Given the description of an element on the screen output the (x, y) to click on. 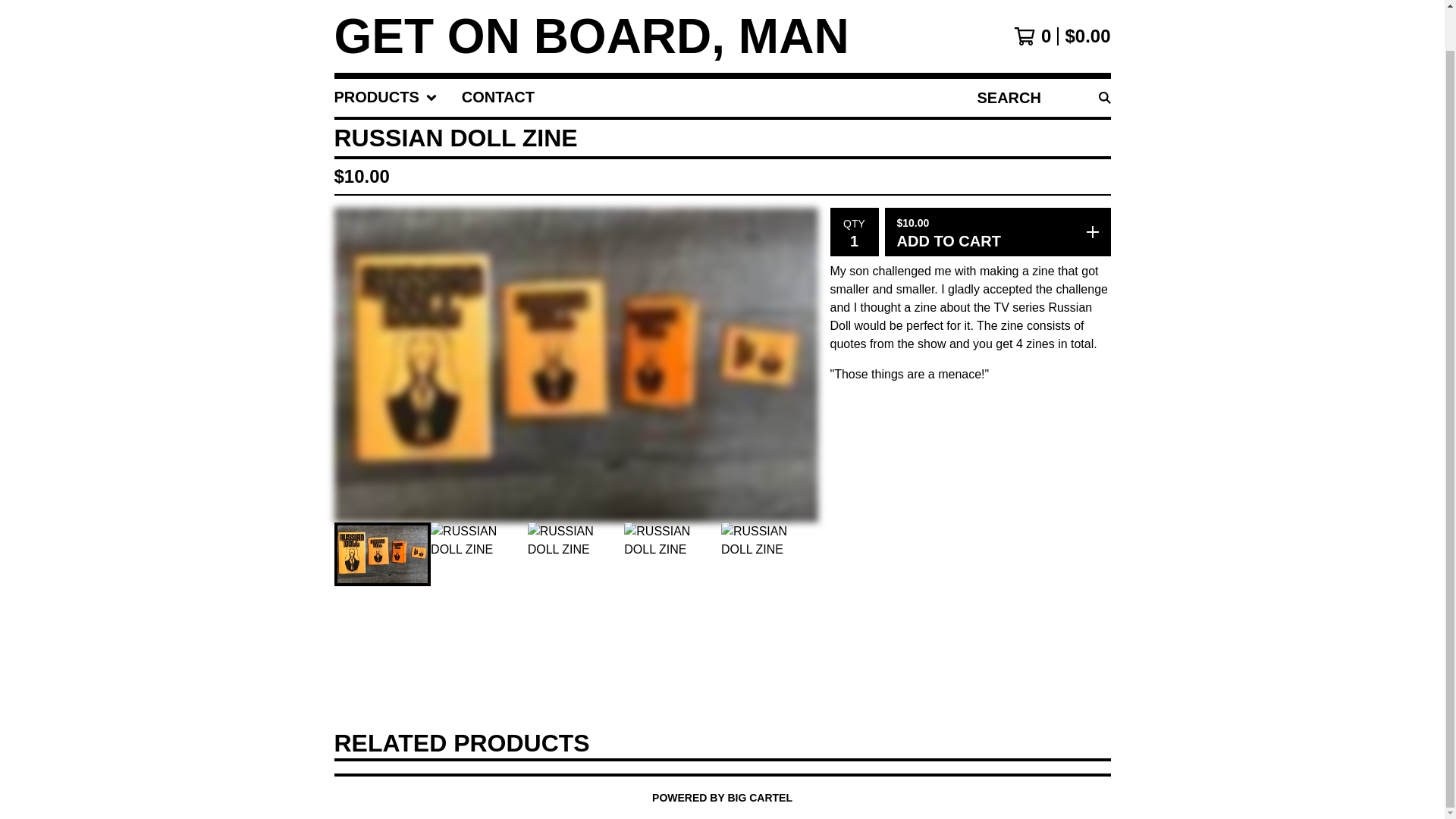
Home (590, 36)
Add to Cart (996, 232)
GET ON BOARD, MAN (590, 36)
PRODUCTS (384, 97)
1 (853, 240)
View cart (1061, 36)
CONTACT (497, 97)
